Given the description of an element on the screen output the (x, y) to click on. 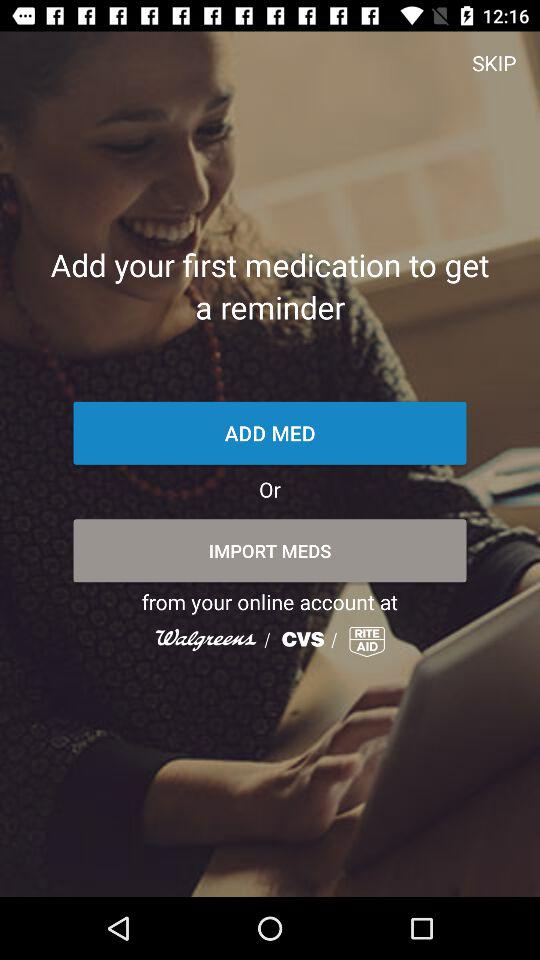
open item below the add your first item (269, 432)
